Given the description of an element on the screen output the (x, y) to click on. 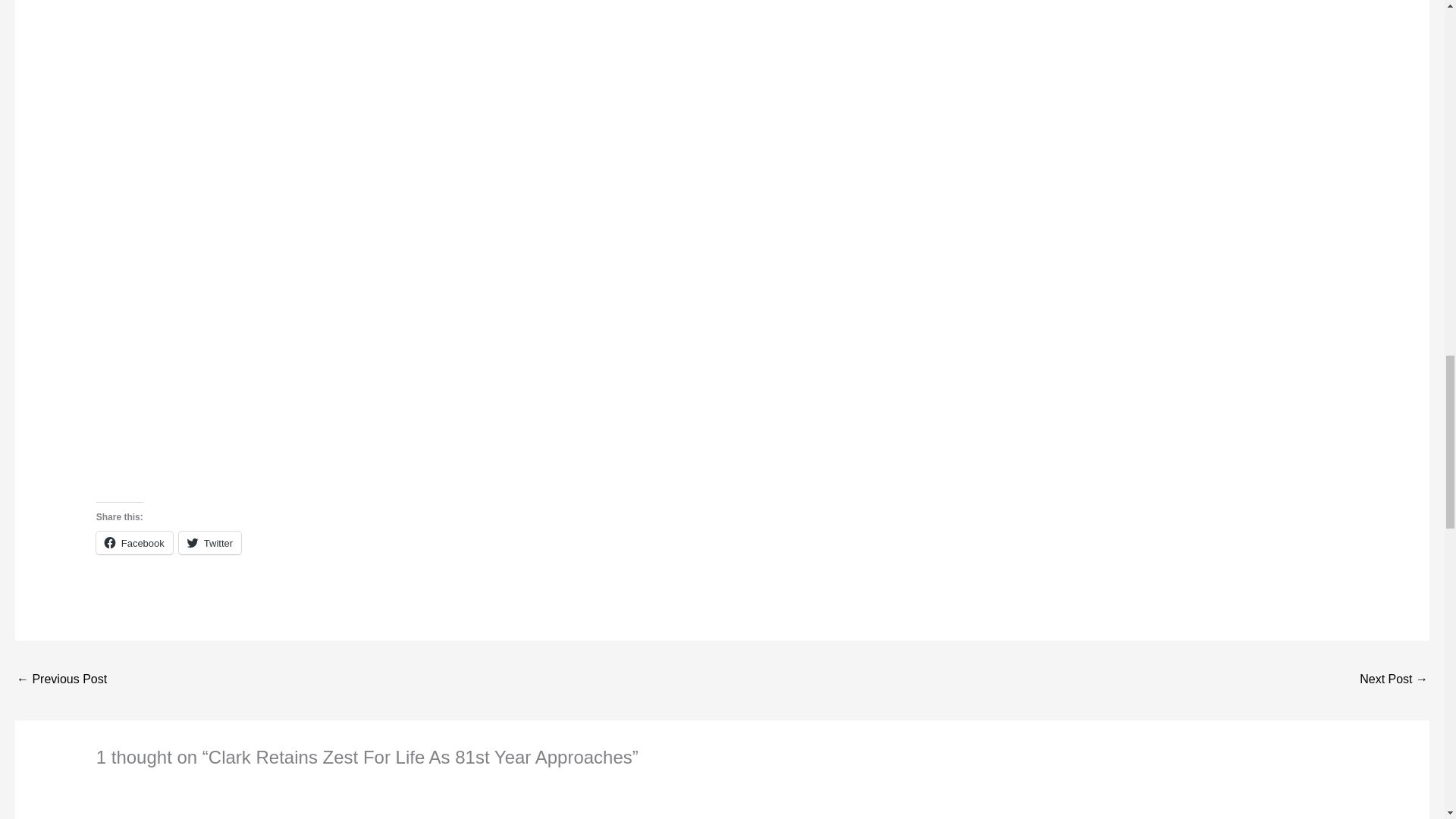
Click to share on Twitter (210, 542)
Twitter (210, 542)
Facebook (134, 542)
Click to share on Facebook (134, 542)
